Given the description of an element on the screen output the (x, y) to click on. 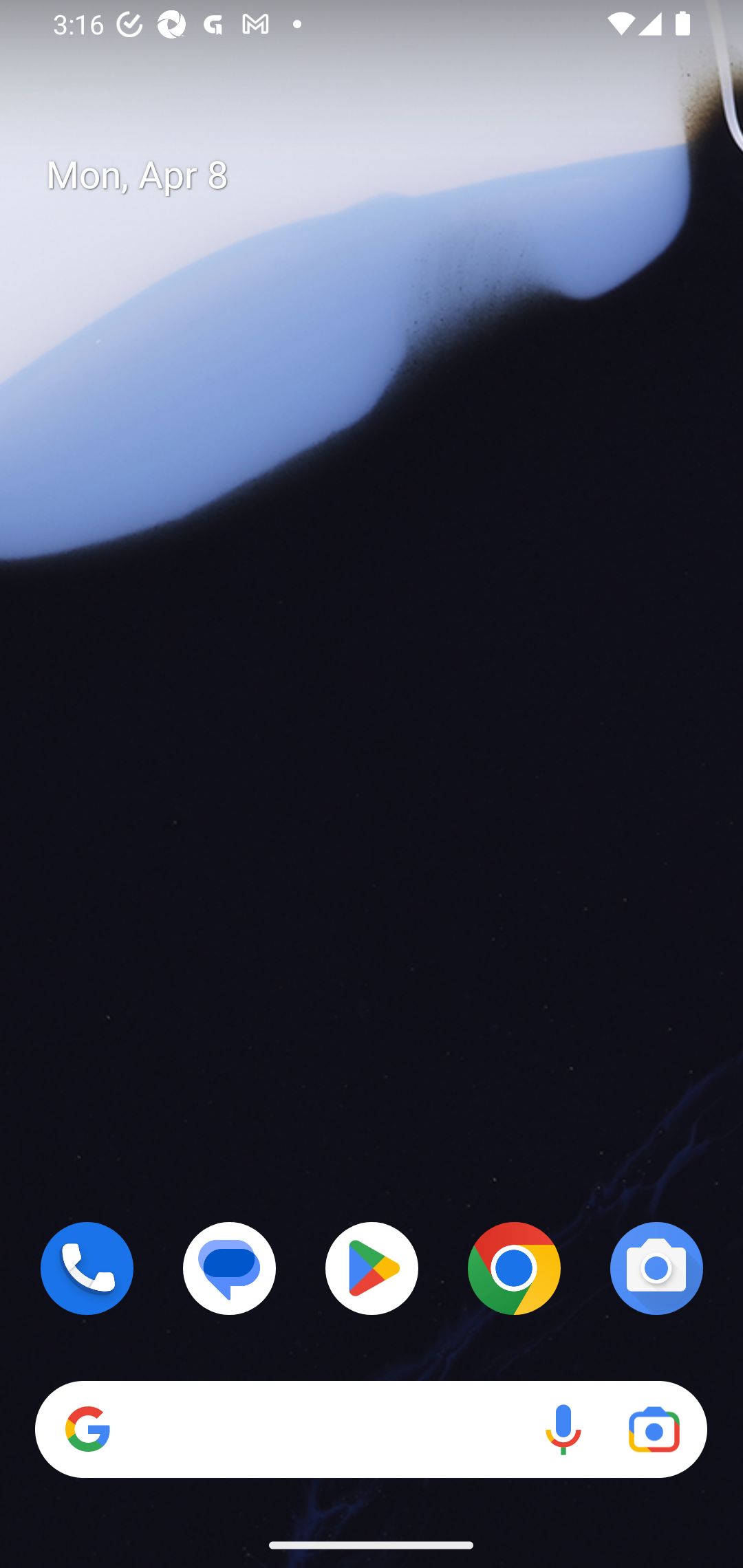
Mon, Apr 8 (386, 175)
Phone (86, 1268)
Messages (229, 1268)
Play Store (371, 1268)
Chrome (513, 1268)
Camera (656, 1268)
Search Voice search Google Lens (370, 1429)
Voice search (562, 1429)
Google Lens (653, 1429)
